Given the description of an element on the screen output the (x, y) to click on. 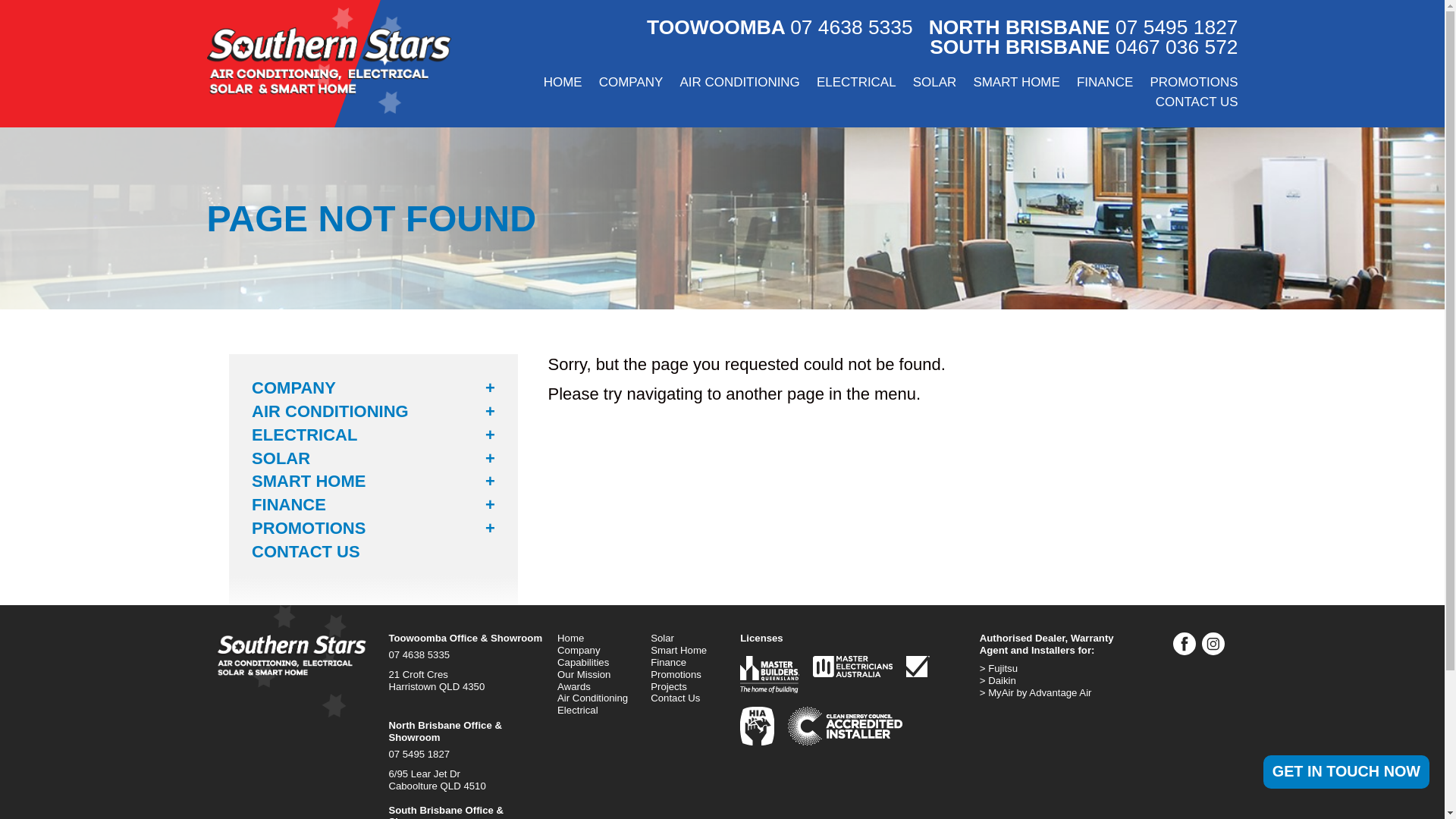
SMART HOME (1009, 84)
Fujitsu (1054, 668)
SOLAR (928, 84)
FINANCE (1098, 84)
TOOWOOMBA 07 4638 5335 (779, 26)
HOME (556, 84)
ELECTRICAL (850, 84)
AIR CONDITIONING (732, 84)
NORTH BRISBANE 07 5495 1827 (1083, 26)
COMPANY (624, 84)
Advantage Air (1054, 693)
SOUTH BRISBANE 0467 036 572 (1083, 47)
Daikin (1054, 680)
